Given the description of an element on the screen output the (x, y) to click on. 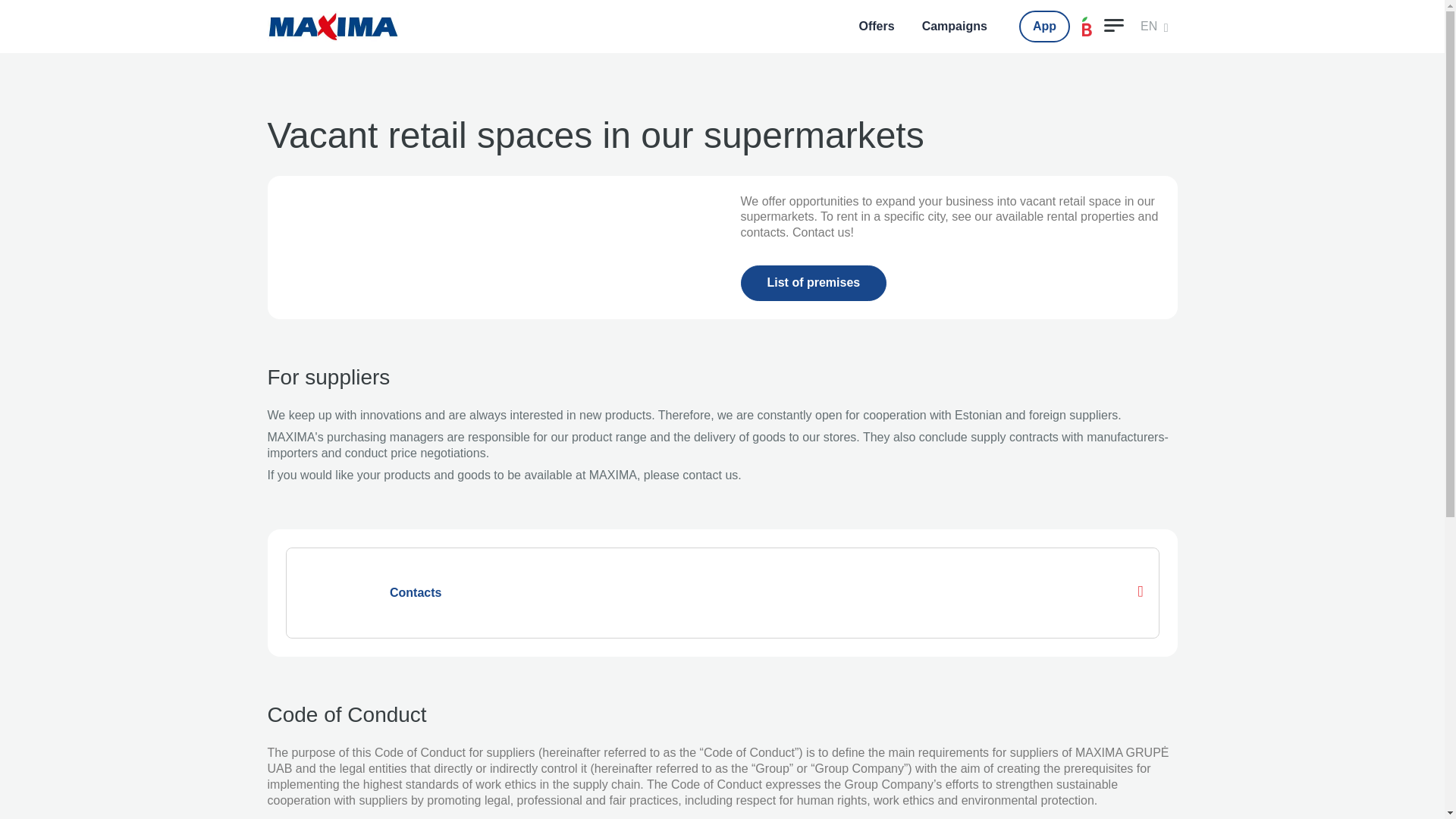
EN (1154, 26)
Offers (875, 26)
Campaigns (954, 26)
App (1044, 26)
Campaigns (954, 26)
Offers (875, 26)
